Given the description of an element on the screen output the (x, y) to click on. 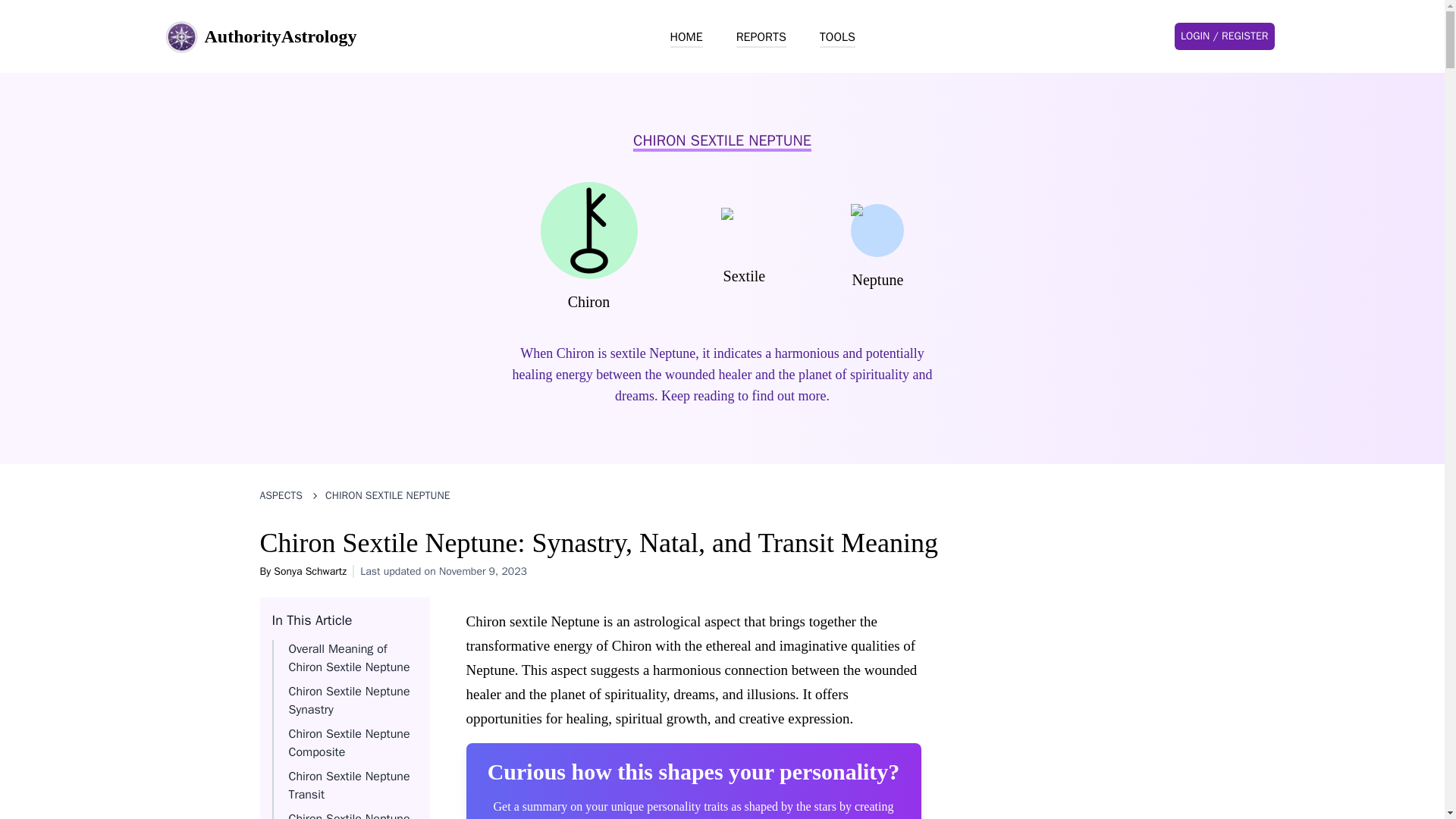
REPORTS (761, 37)
TOOLS (837, 37)
Overall Meaning of Chiron Sextile Neptune (348, 657)
HOME (686, 37)
Chiron Sextile Neptune Synastry (348, 700)
ASPECTS (280, 495)
Chiron Sextile Neptune Natal (348, 815)
Sonya Schwartz (309, 571)
Chiron Sextile Neptune Transit (348, 785)
Chiron Sextile Neptune Composite (348, 743)
